Given the description of an element on the screen output the (x, y) to click on. 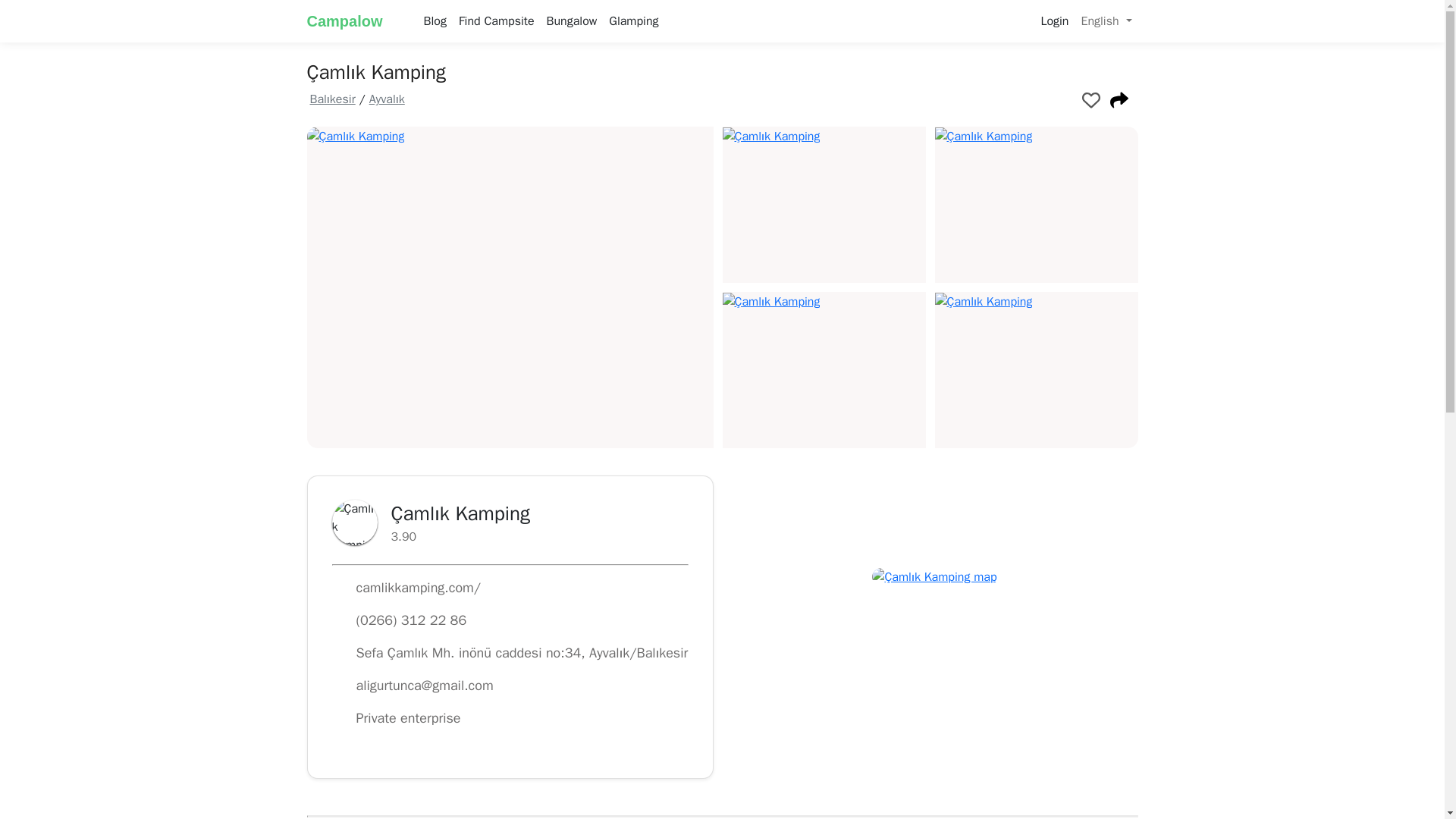
English (1105, 20)
Campalow (354, 20)
Find Campsite (496, 20)
Bungalow (572, 20)
Login (1053, 20)
Blog (434, 20)
Glamping (632, 20)
